Given the description of an element on the screen output the (x, y) to click on. 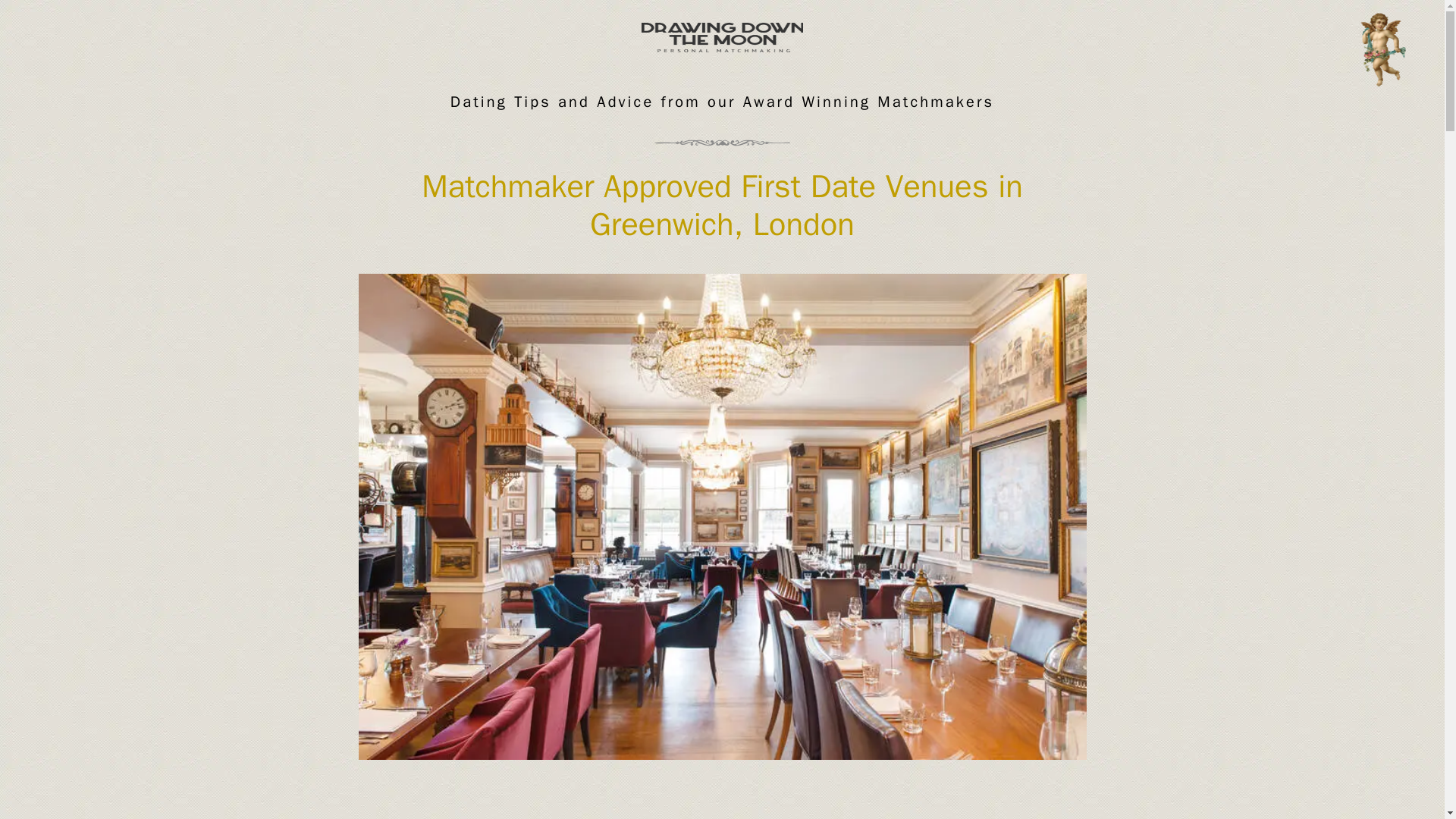
Drawing Down The Moon (722, 29)
